Given the description of an element on the screen output the (x, y) to click on. 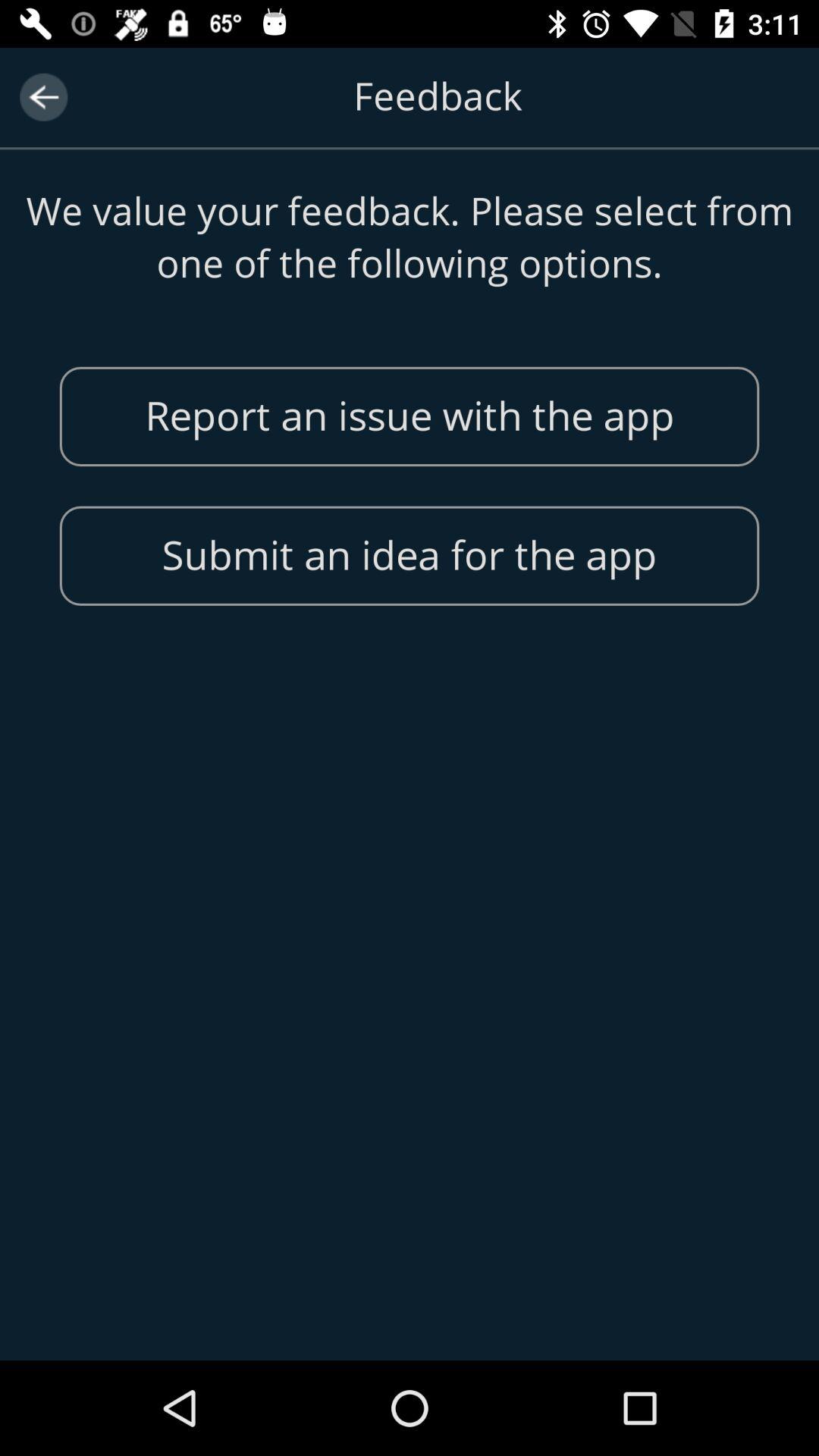
select the arrow on the top left corner (43, 97)
